Given the description of an element on the screen output the (x, y) to click on. 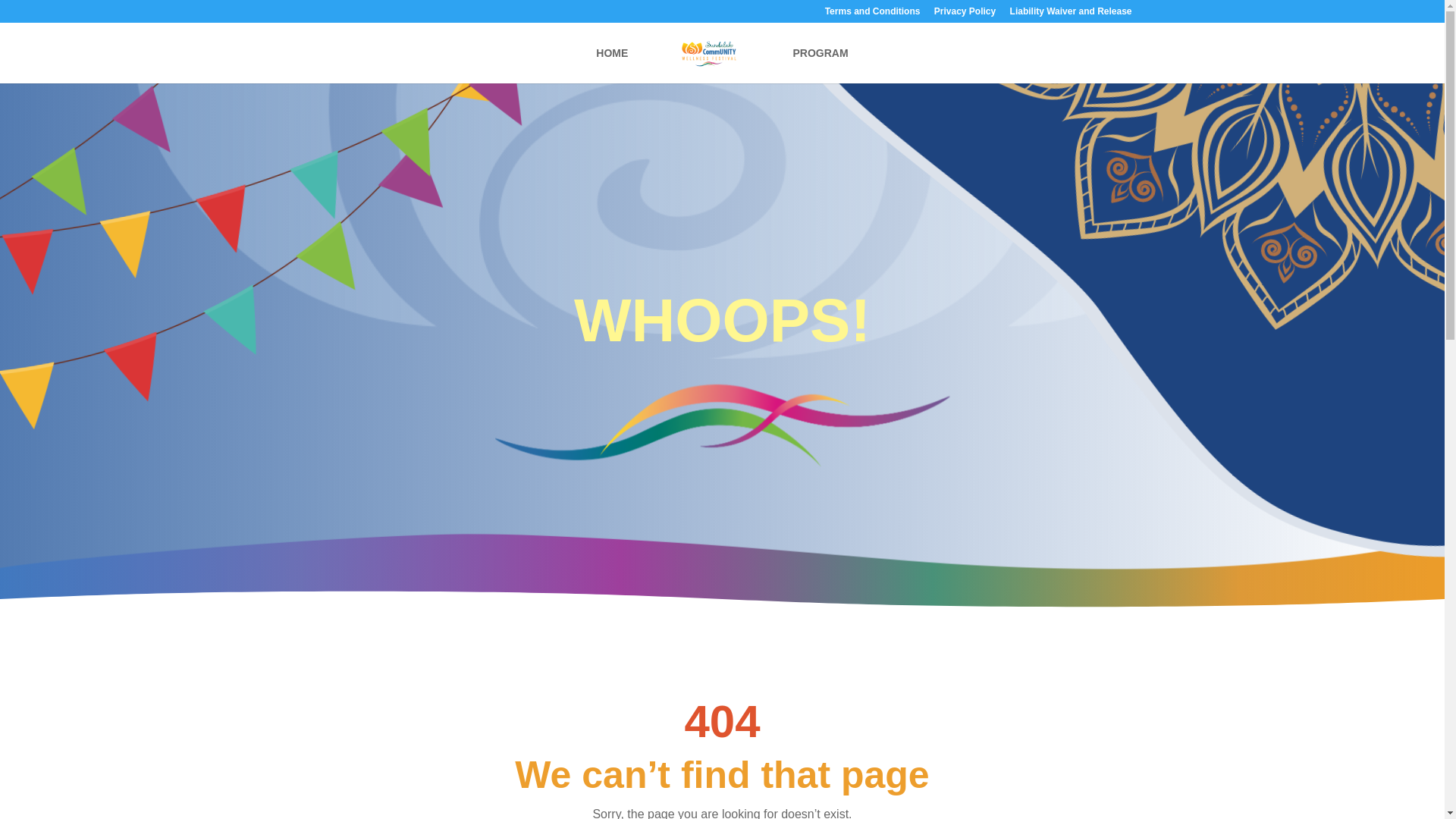
HOME (611, 65)
Wellness Festival Waves Logo (722, 425)
Liability Waiver and Release (1071, 14)
PROGRAM (820, 65)
Terms and Conditions (872, 14)
Privacy Policy (964, 14)
